Given the description of an element on the screen output the (x, y) to click on. 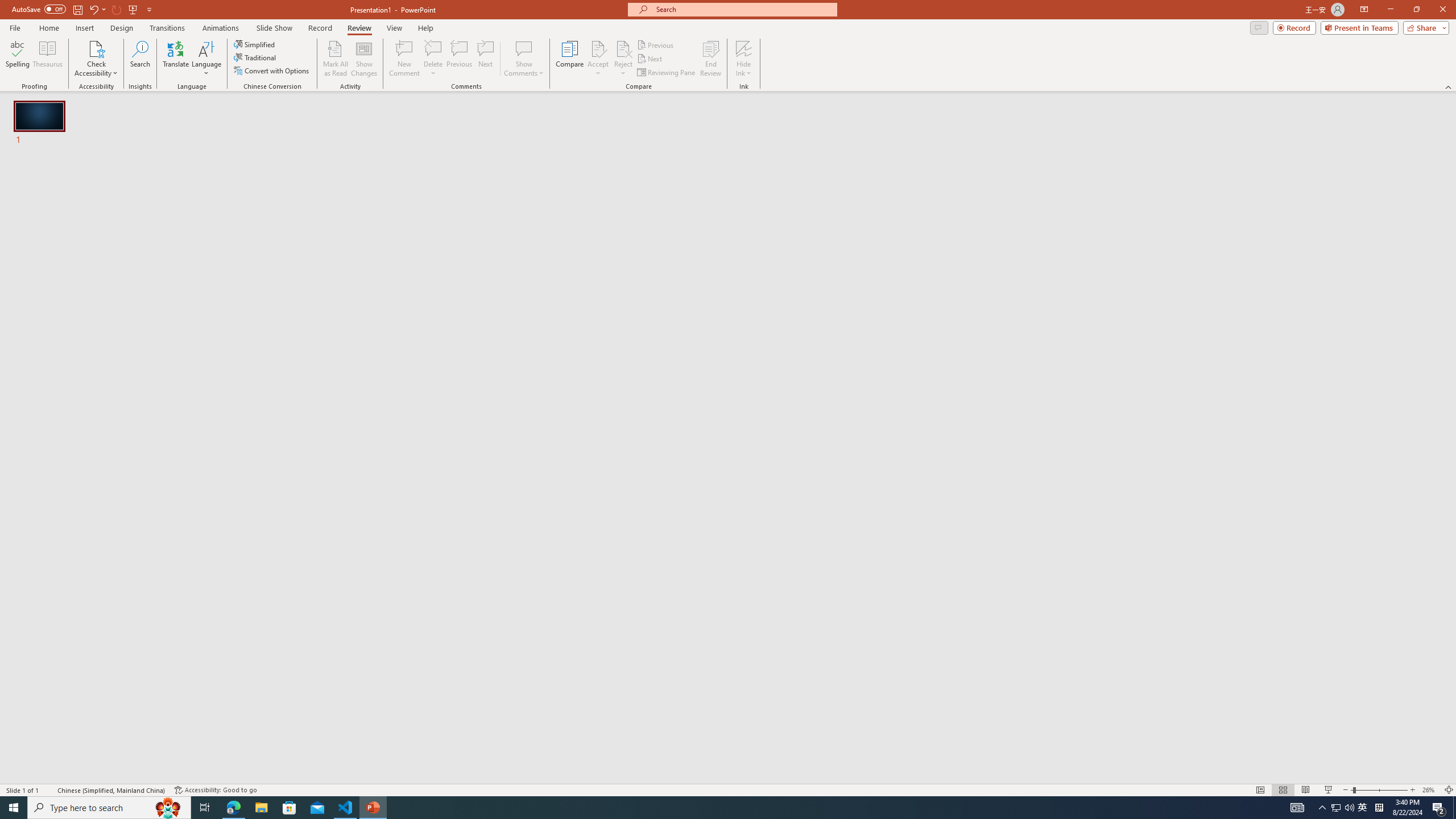
Accept (598, 58)
Reject (622, 58)
Mark All as Read (335, 58)
